Given the description of an element on the screen output the (x, y) to click on. 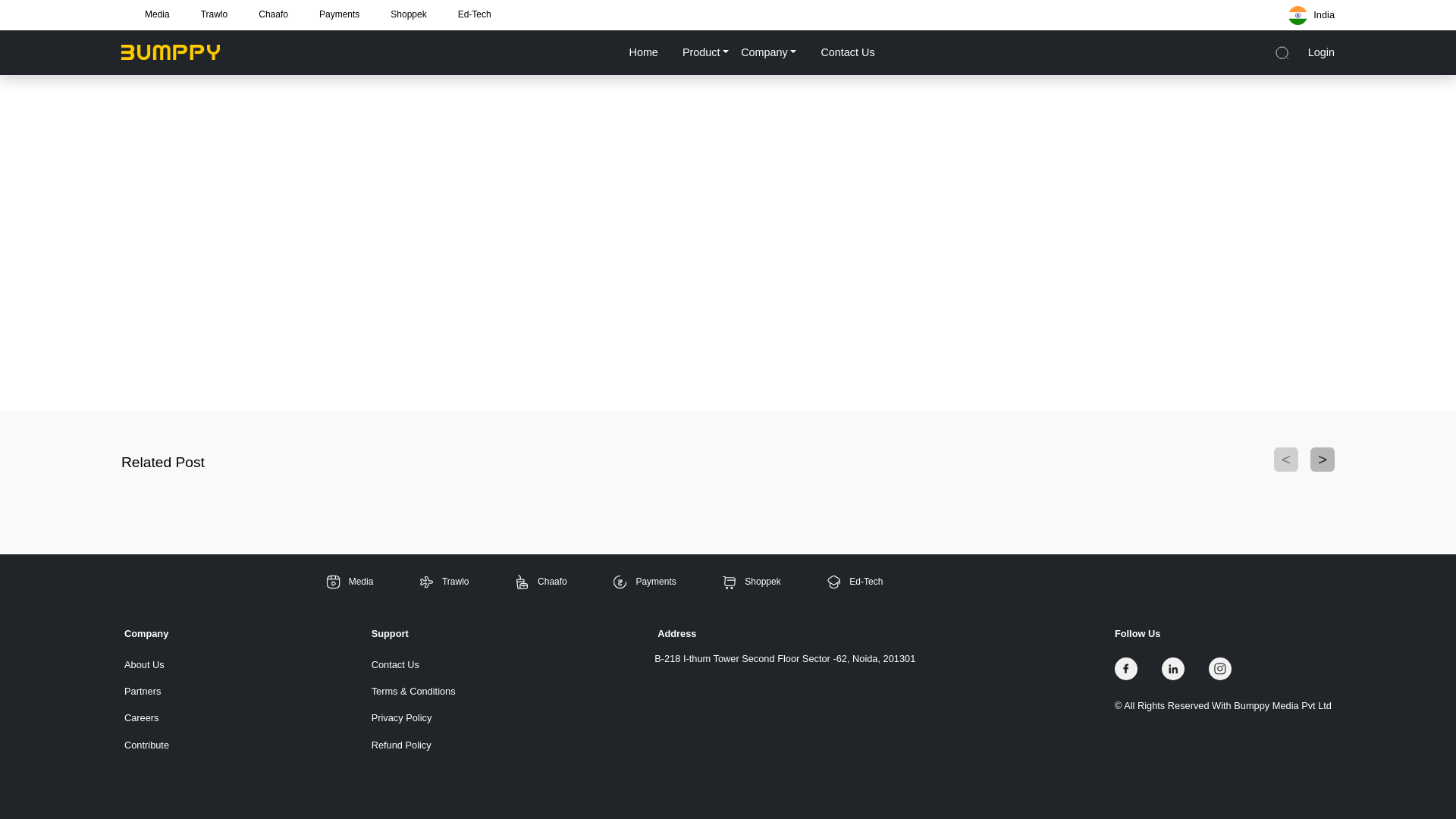
Partners (145, 691)
B-218 I-thum Tower Second Floor Sector -62, Noida, 201301 (784, 658)
Careers (145, 717)
Privacy Policy (413, 717)
About Us (145, 664)
Contribute (145, 745)
Refund Policy (413, 745)
Contact Us (413, 664)
